Given the description of an element on the screen output the (x, y) to click on. 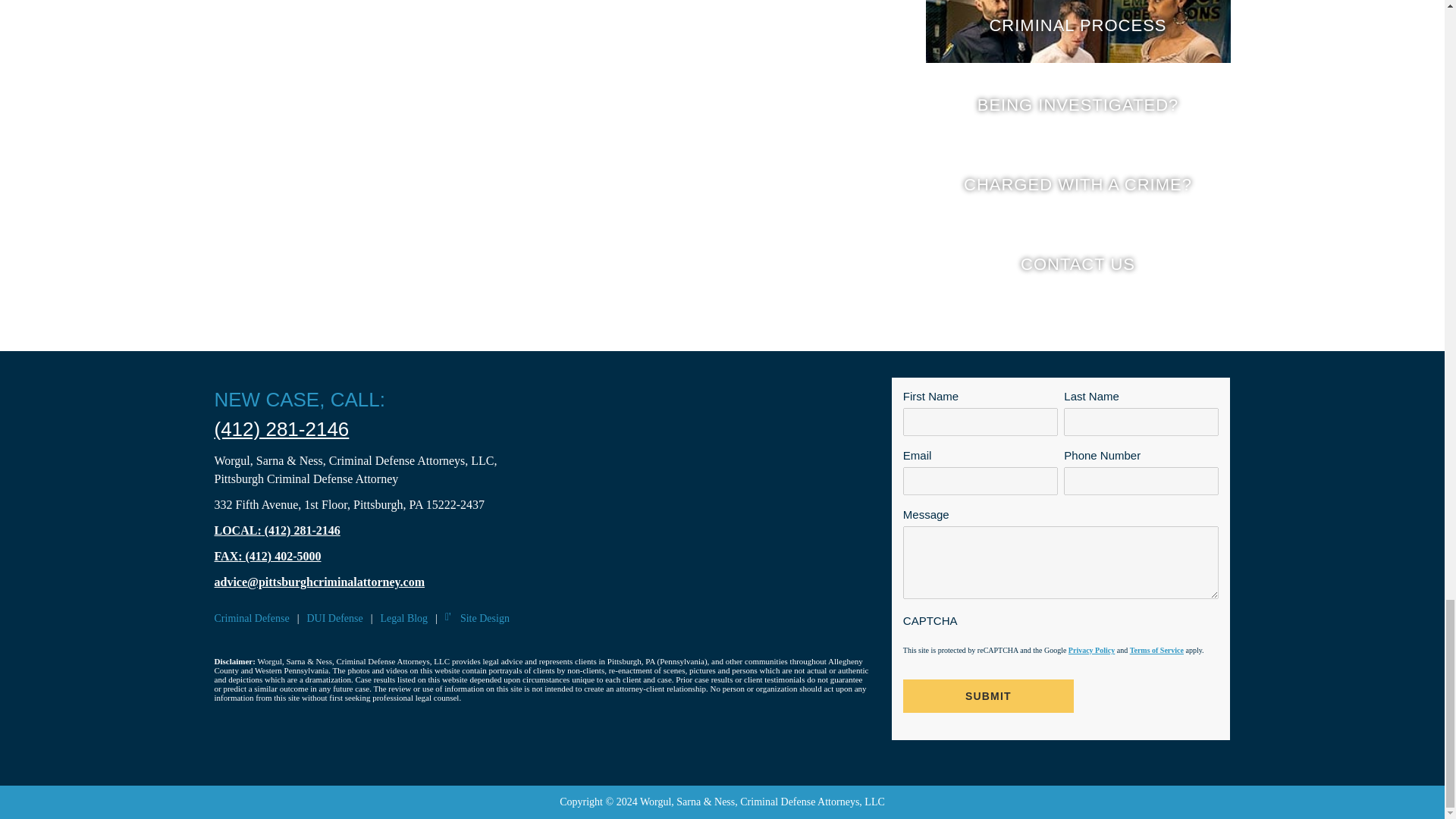
Criminal Process (1077, 31)
Being Investigated? (1077, 104)
Submit (988, 695)
